Given the description of an element on the screen output the (x, y) to click on. 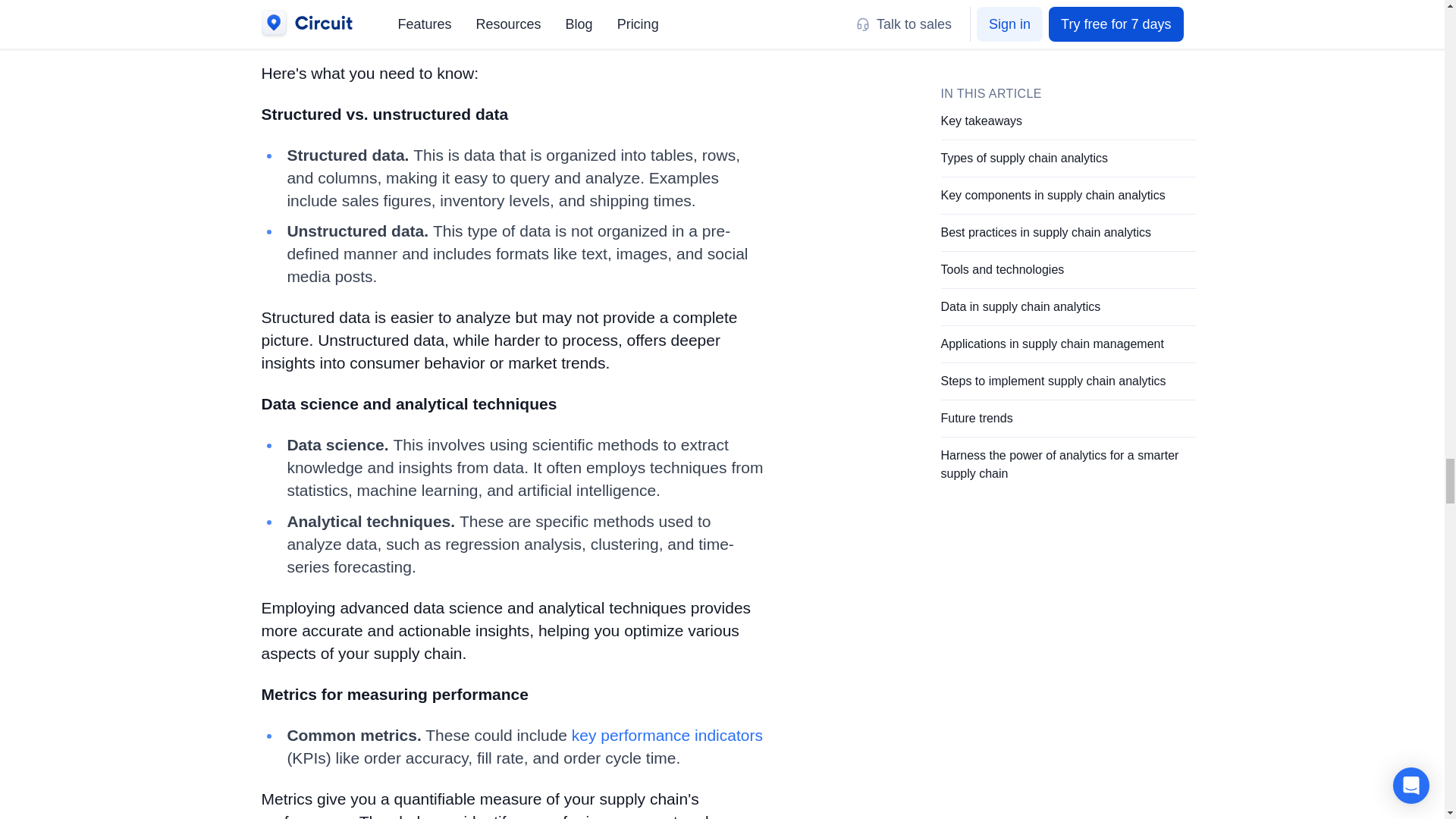
key performance indicators (667, 735)
